Given the description of an element on the screen output the (x, y) to click on. 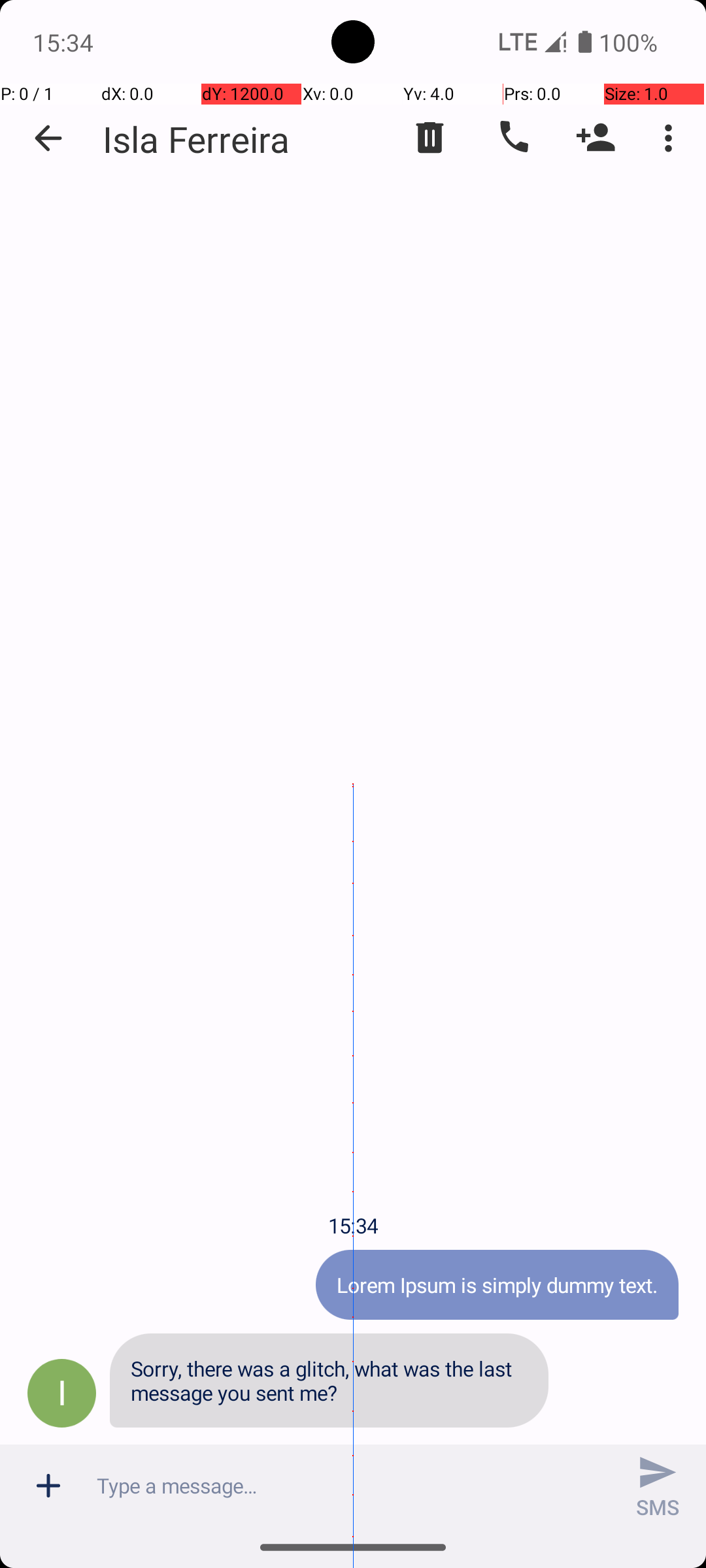
Isla Ferreira Element type: android.widget.TextView (195, 138)
Lorem Ipsum is simply dummy text. Element type: android.widget.TextView (496, 1284)
